Given the description of an element on the screen output the (x, y) to click on. 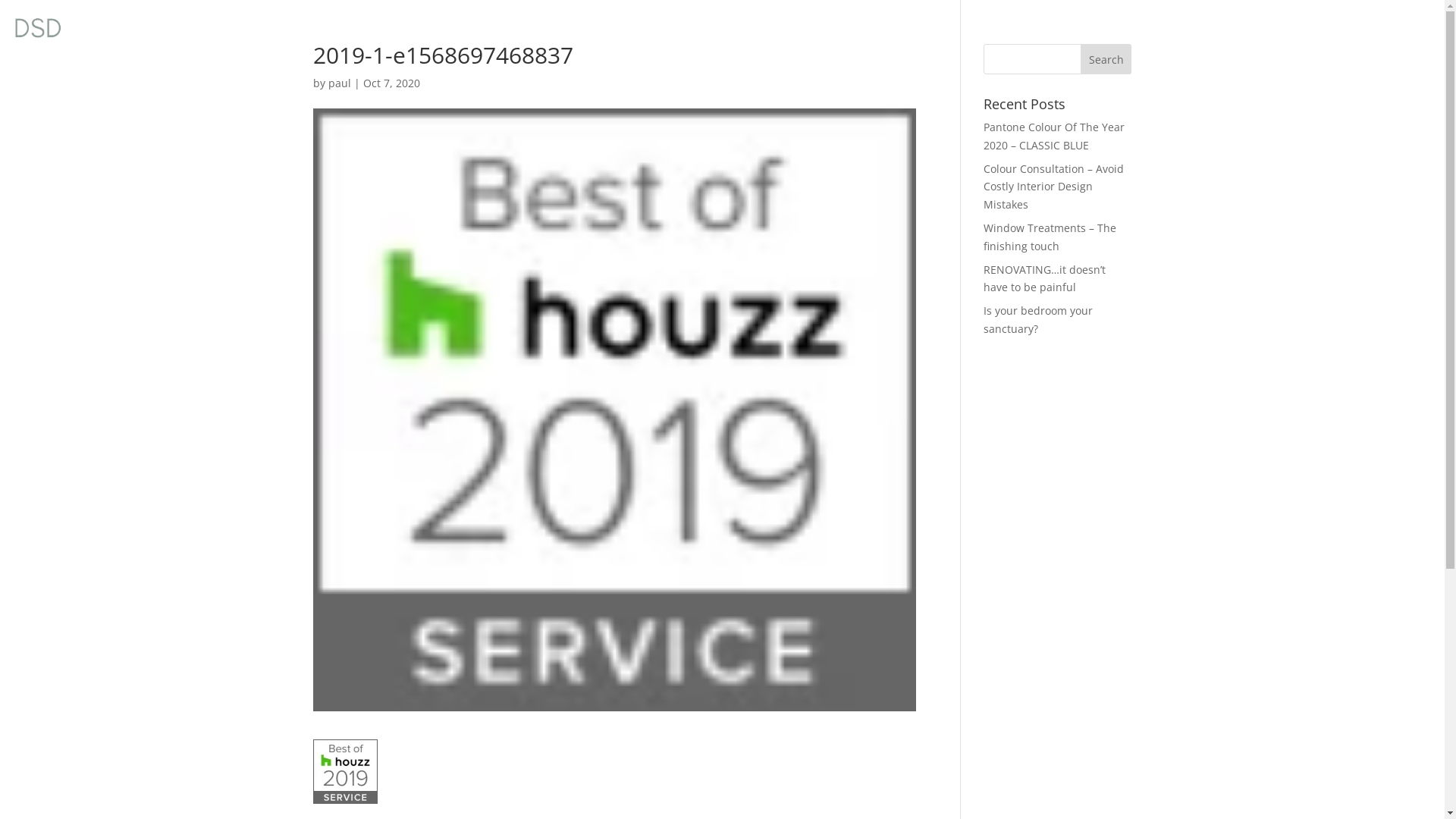
PROJECTS Element type: text (1221, 28)
Search Element type: text (1106, 58)
SERVICES Element type: text (1134, 28)
paul Element type: text (338, 82)
ABOUT Element type: text (1056, 28)
CONTACT Element type: text (1379, 28)
BLOG Element type: text (1297, 28)
Is your bedroom your sanctuary? Element type: text (1037, 319)
